Given the description of an element on the screen output the (x, y) to click on. 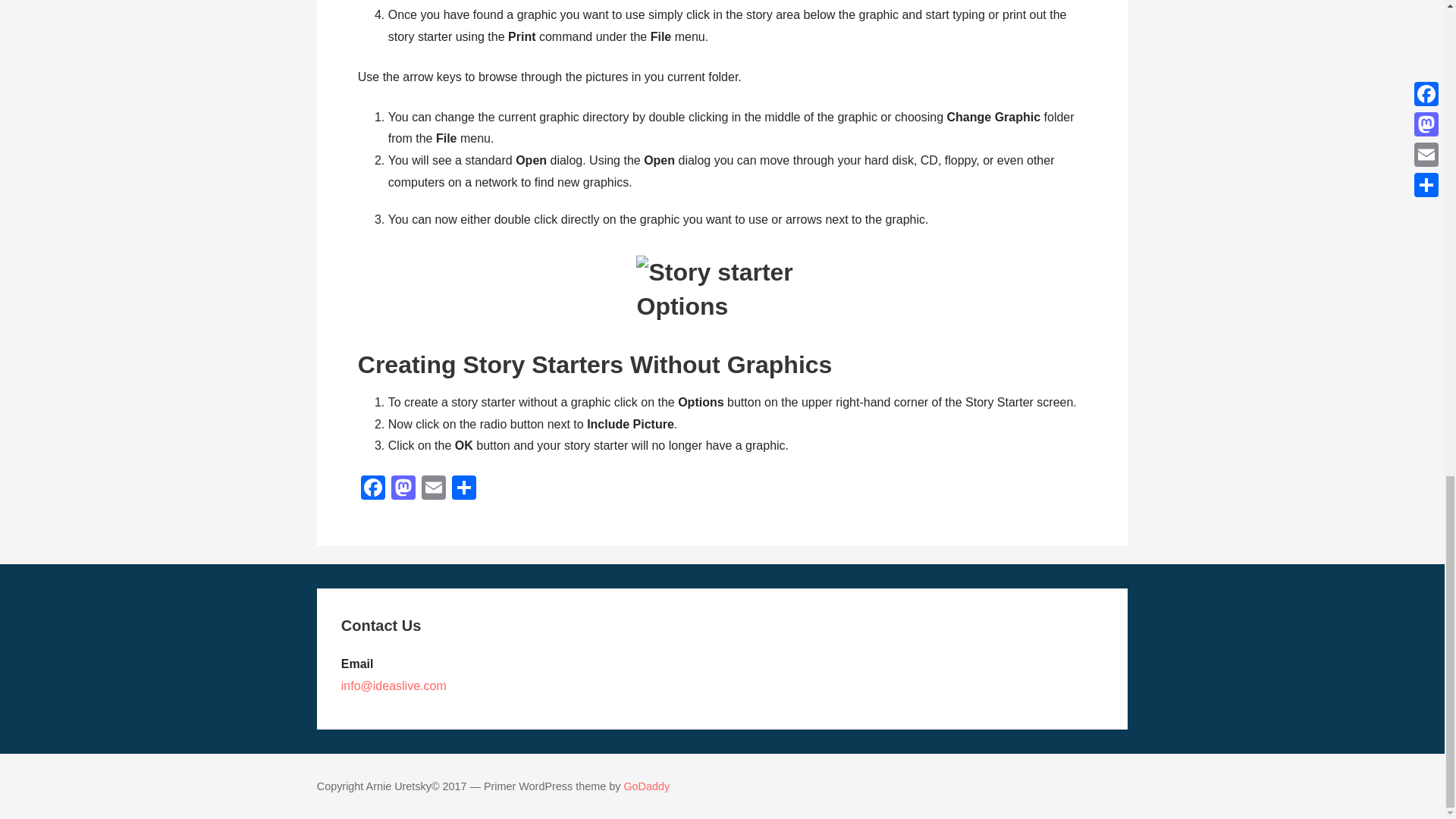
Share (463, 489)
Facebook (373, 489)
Facebook (373, 489)
Email (433, 489)
Mastodon (403, 489)
Email (433, 489)
GoDaddy (646, 786)
Mastodon (403, 489)
